Given the description of an element on the screen output the (x, y) to click on. 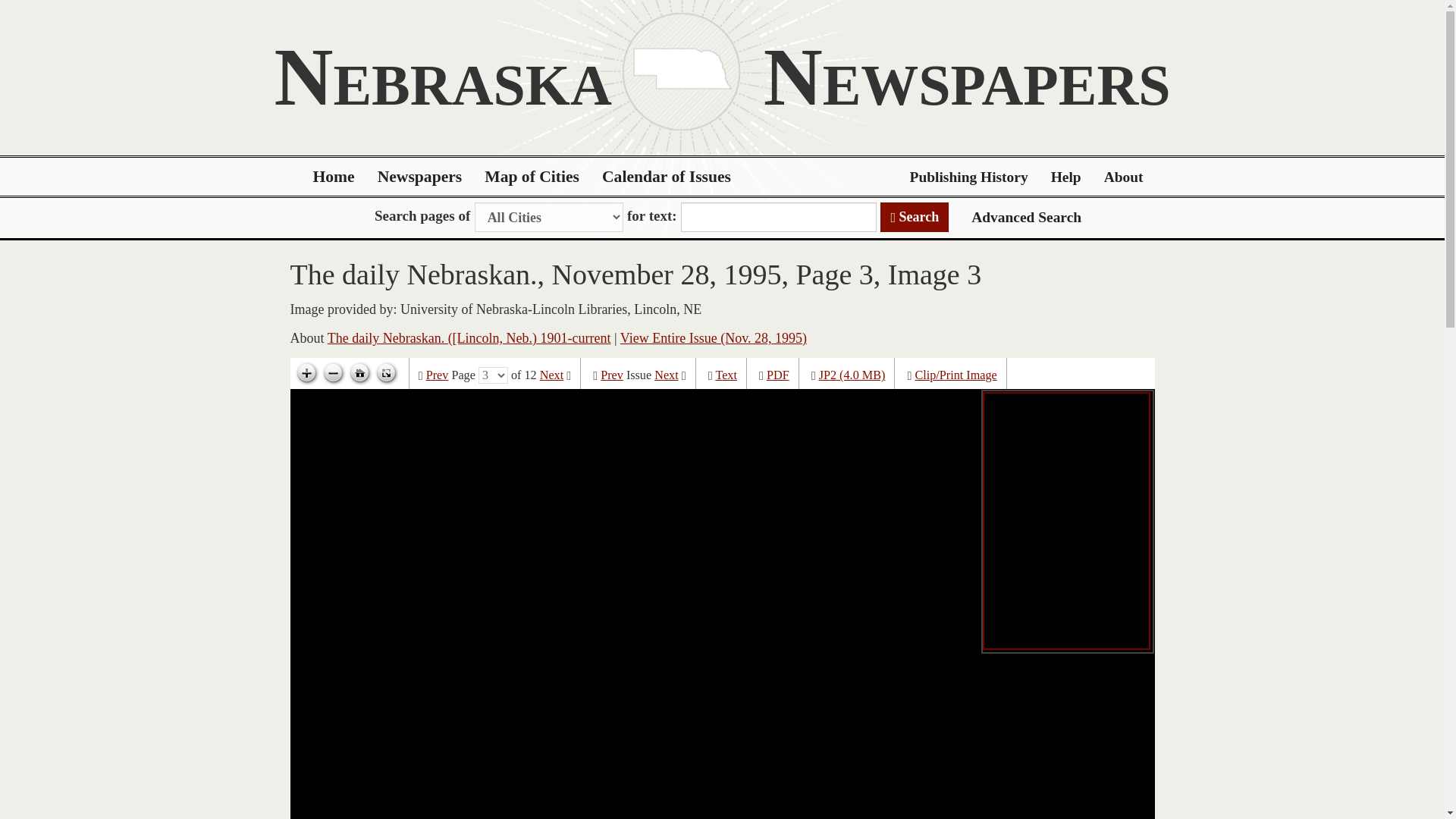
Zoom in (307, 373)
PDF (778, 375)
Toggle full page (385, 373)
Prev (611, 375)
Newspapers (420, 176)
Text (725, 375)
Prev (437, 375)
Next (551, 375)
Map of Cities (532, 176)
Publishing History (968, 176)
Calendar of Issues (666, 176)
Search (914, 217)
About (1123, 176)
Next (665, 375)
Help (1066, 176)
